Given the description of an element on the screen output the (x, y) to click on. 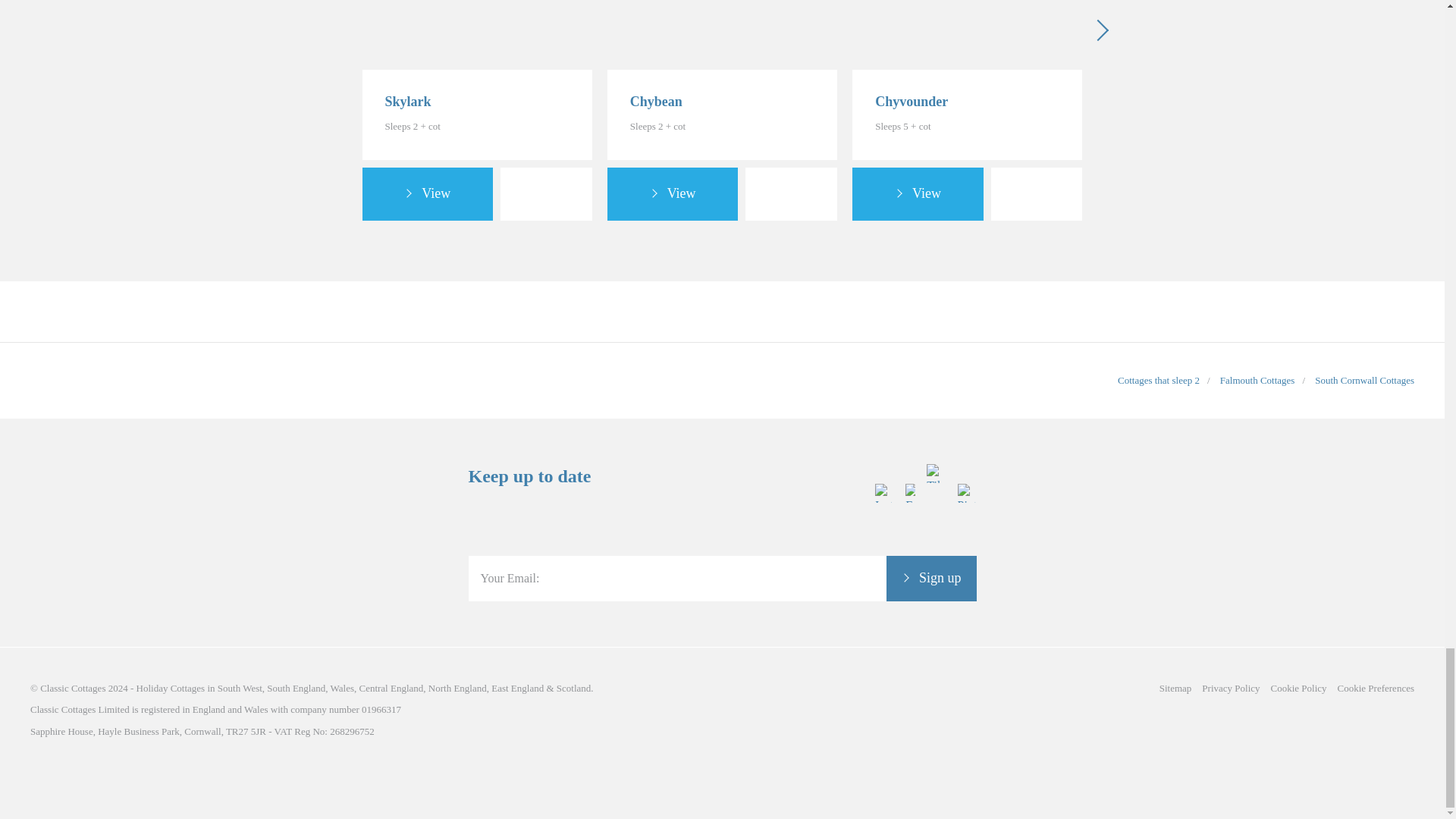
Follow Classic Cottages Pinterest (965, 545)
Follow Classic Cottages Instagram (884, 545)
Follow Classic Cottages Tik Tok (935, 545)
